Given the description of an element on the screen output the (x, y) to click on. 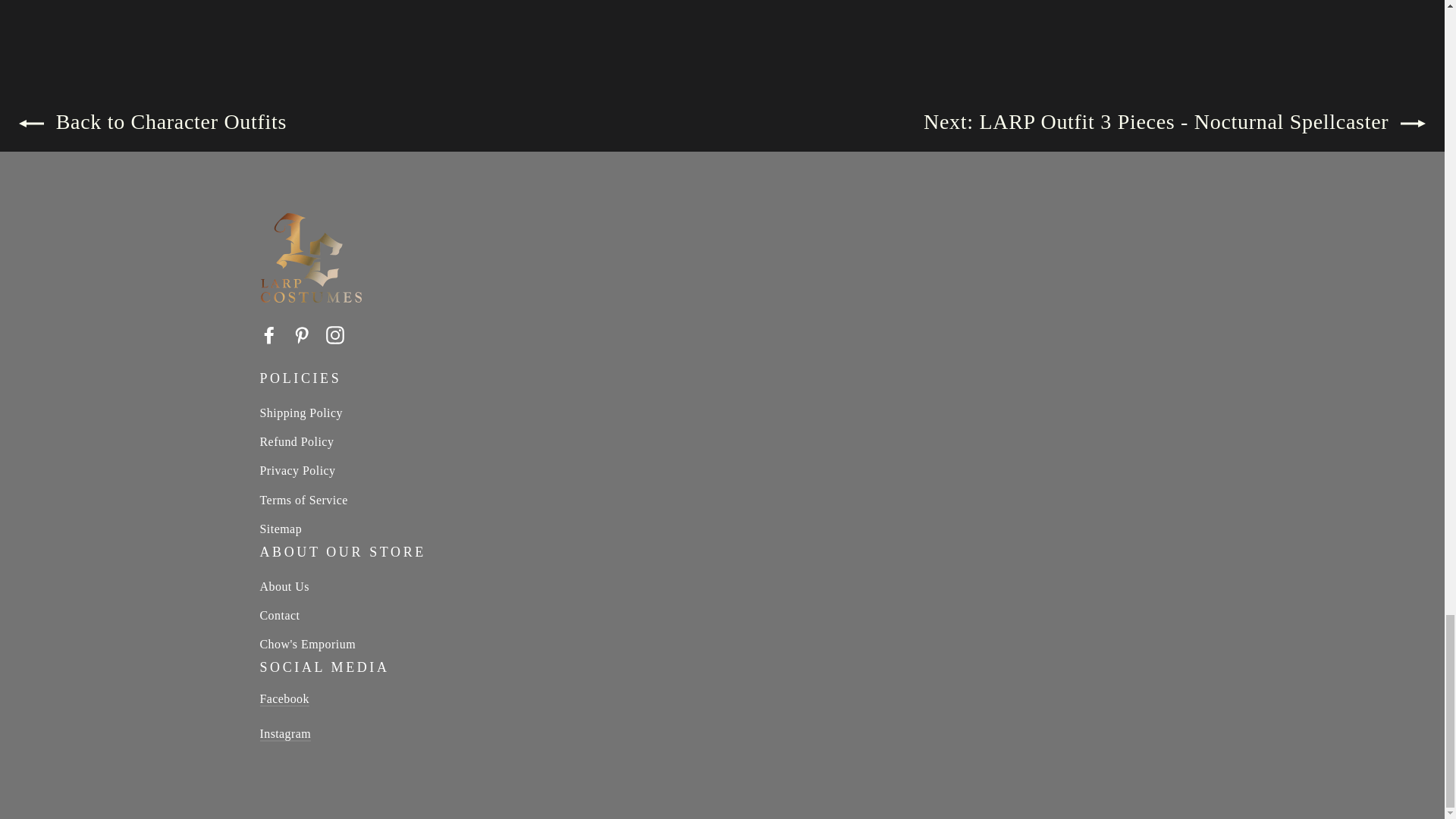
LARP Costumes Instagram (285, 734)
